Given the description of an element on the screen output the (x, y) to click on. 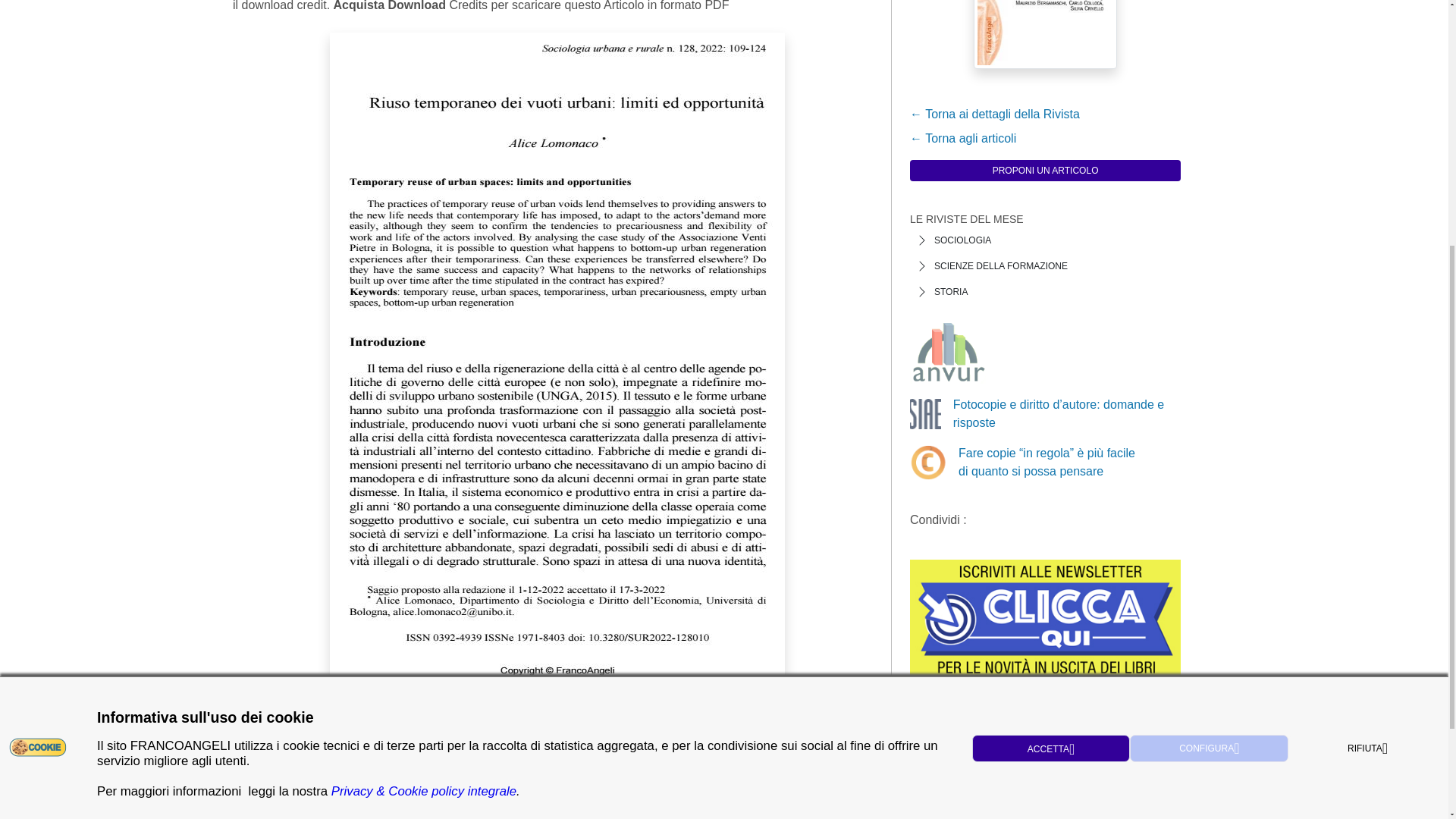
CookieMan BY ML informatica (37, 342)
